Given the description of an element on the screen output the (x, y) to click on. 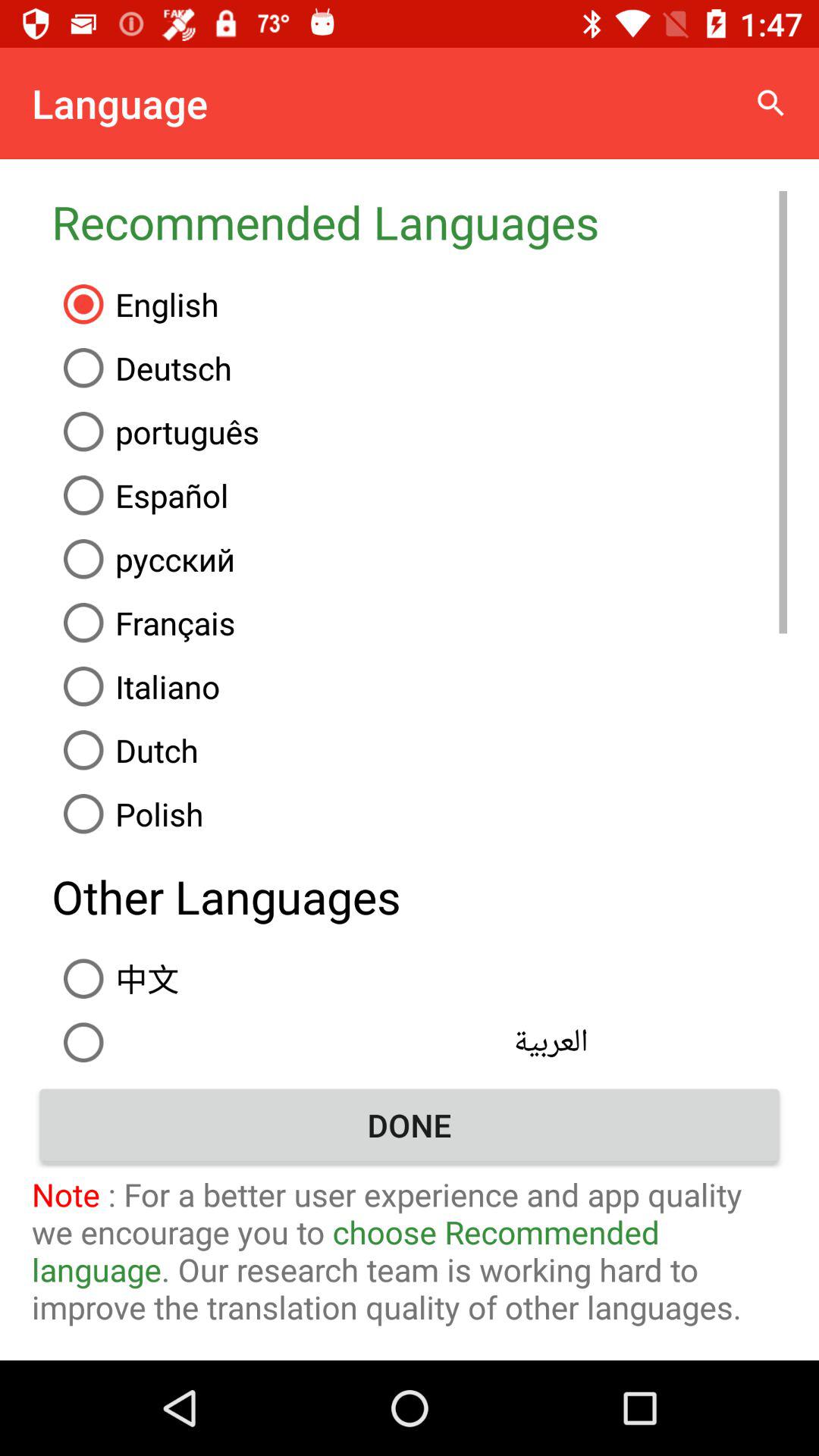
turn off item above note for a (409, 1124)
